Given the description of an element on the screen output the (x, y) to click on. 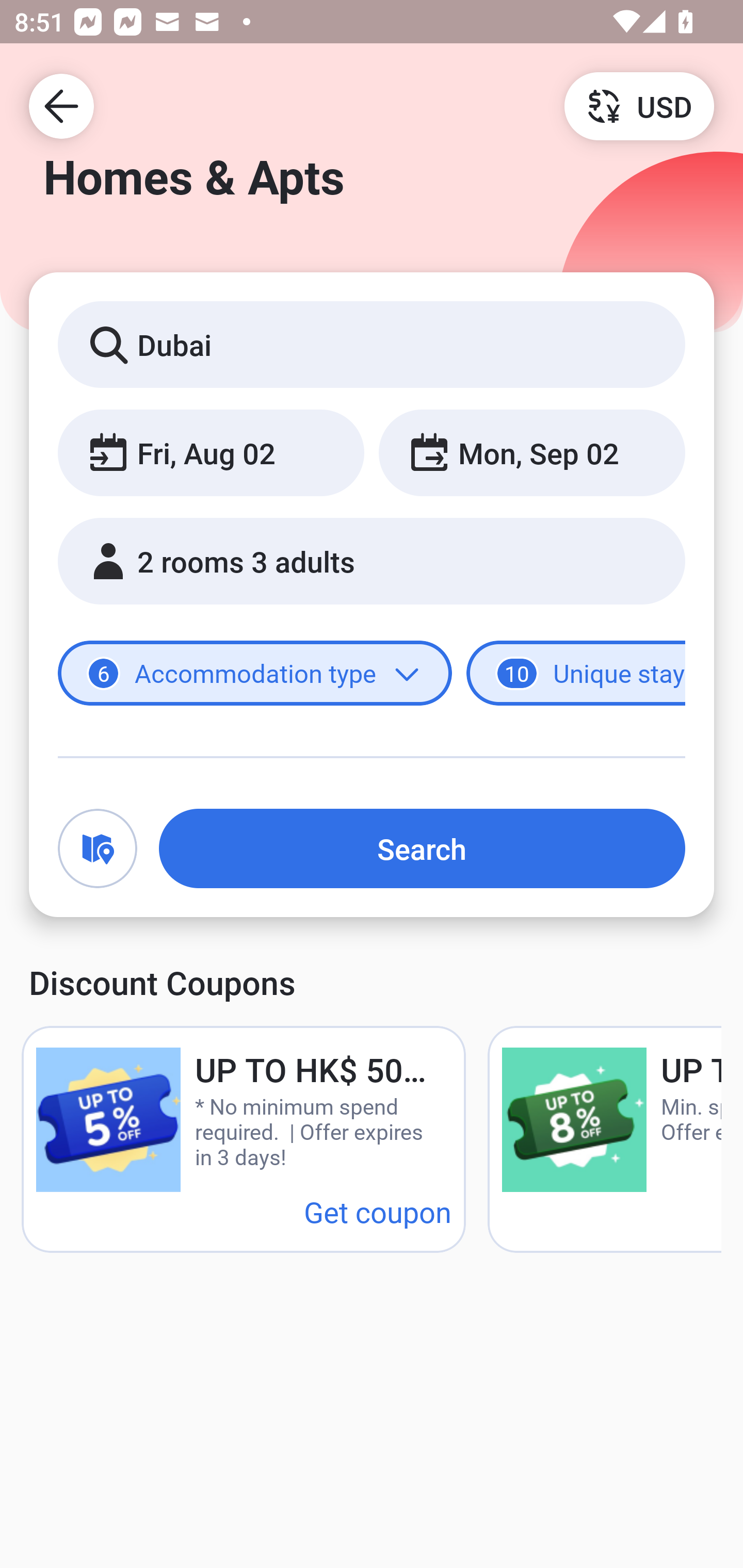
USD (639, 105)
Dubai (371, 344)
Fri, Aug 02 (210, 452)
Mon, Sep 02 (531, 452)
2 rooms 3 adults (371, 561)
6 Accommodation type (254, 673)
10 Unique stays (575, 673)
Search (422, 848)
Get coupon (377, 1211)
